Given the description of an element on the screen output the (x, y) to click on. 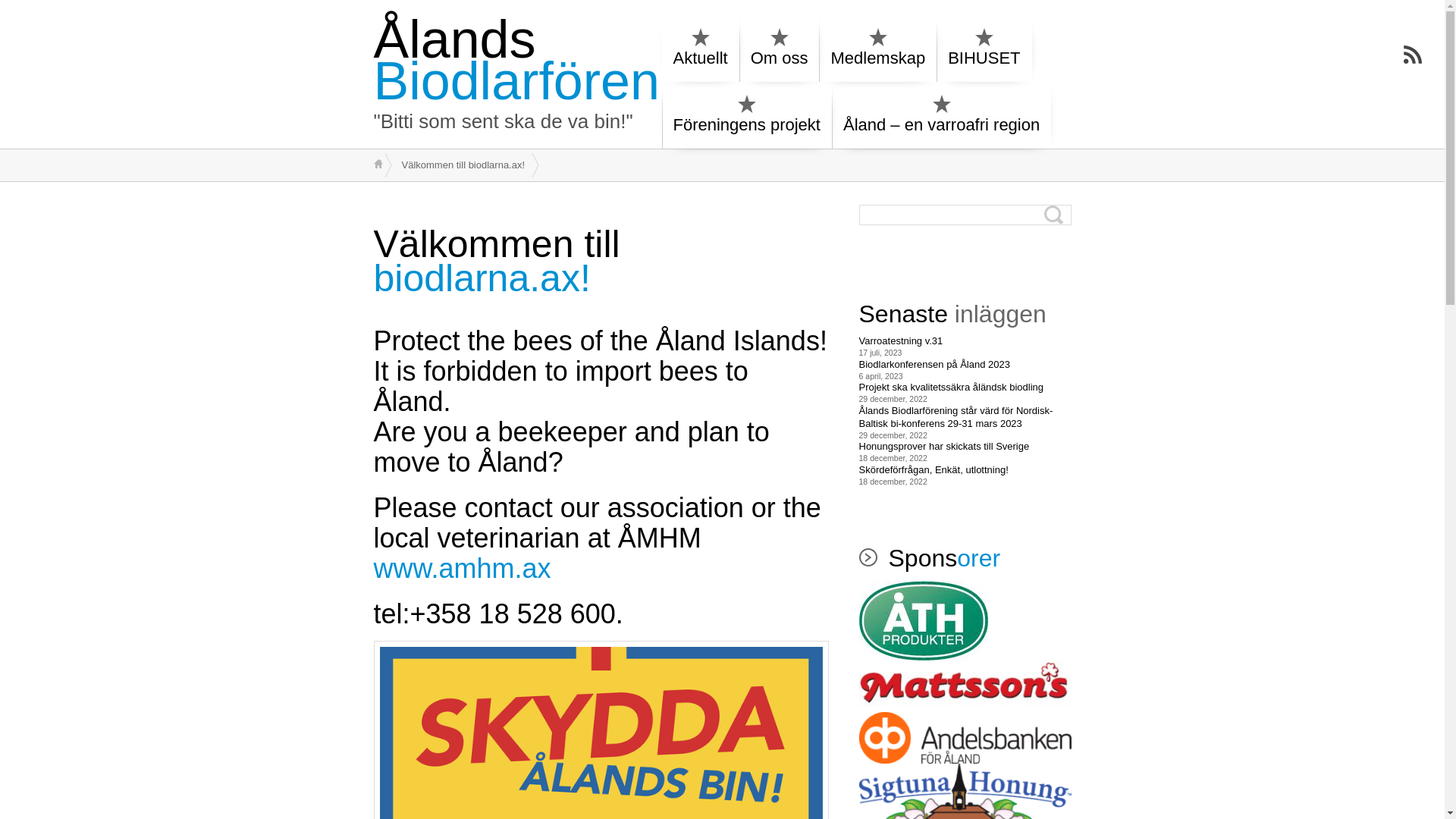
BIHUSET Element type: text (983, 49)
Om oss Element type: text (779, 49)
  Element type: text (377, 163)
Aktuellt Element type: text (699, 49)
Varroatestning v.31 Element type: text (900, 341)
search Element type: text (10, 10)
Honungsprover har skickats till Sverige Element type: text (943, 446)
Medlemskap Element type: text (877, 49)
Subscribe to RSS Feed Element type: hover (1412, 54)
www.amhm.ax Element type: text (461, 568)
